Given the description of an element on the screen output the (x, y) to click on. 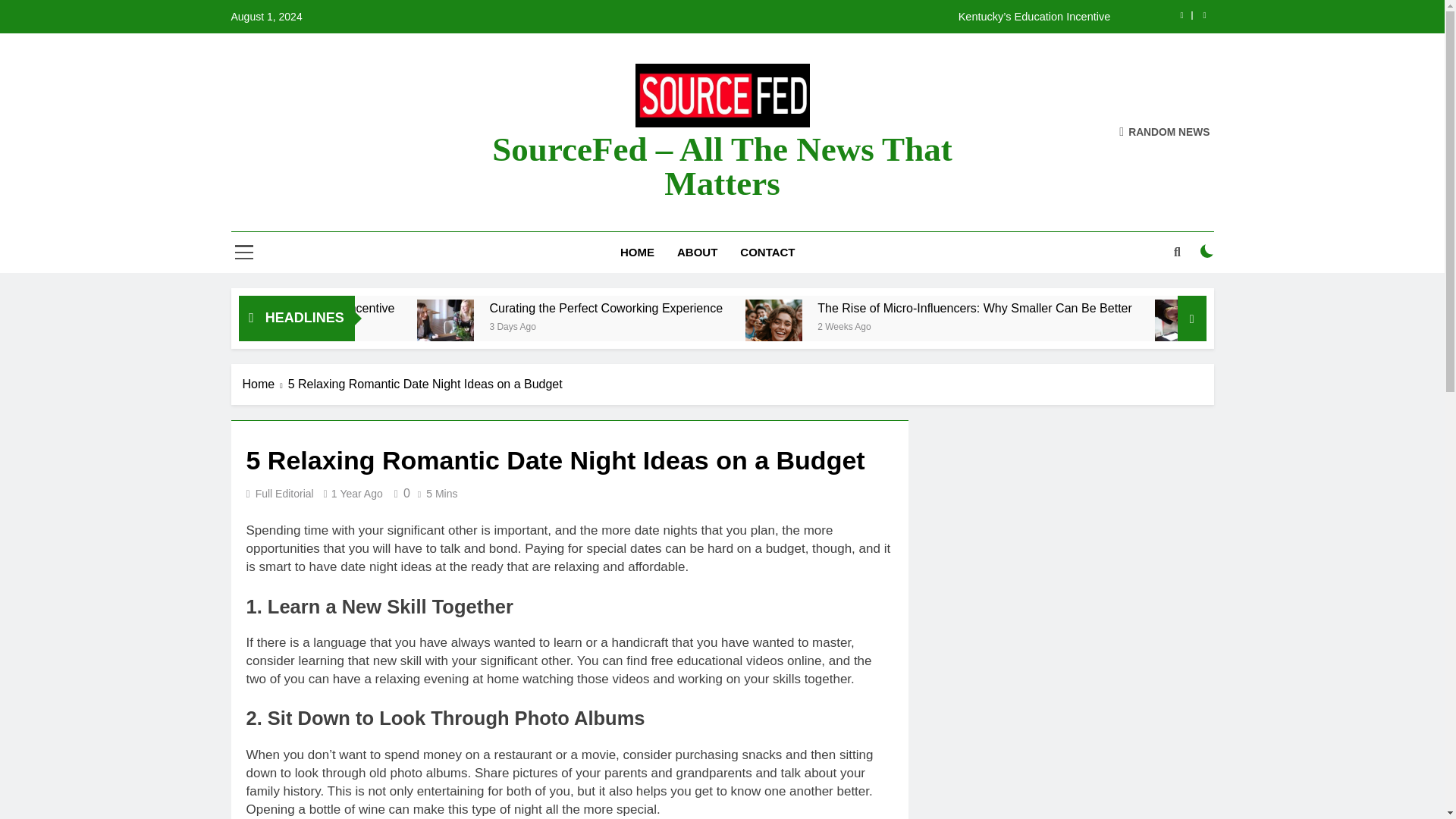
3 Days Ago (694, 325)
RANDOM NEWS (1164, 131)
on (1206, 250)
Curating the Perfect Coworking Experience (790, 308)
2 Weeks Ago (1021, 325)
The Rise of Micro-Influencers: Why Smaller Can Be Better (900, 327)
HOME (636, 251)
3 Days Ago (437, 325)
The Rise of Micro-Influencers: Why Smaller Can Be Better (1153, 308)
Curating the Perfect Coworking Experience (737, 308)
Curating the Perfect Coworking Experience (582, 327)
Curating the Perfect Coworking Experience (579, 327)
ABOUT (697, 251)
The Rise of Micro-Influencers: Why Smaller Can Be Better (903, 327)
The Rise of Micro-Influencers: Why Smaller Can Be Better (1100, 308)
